Given the description of an element on the screen output the (x, y) to click on. 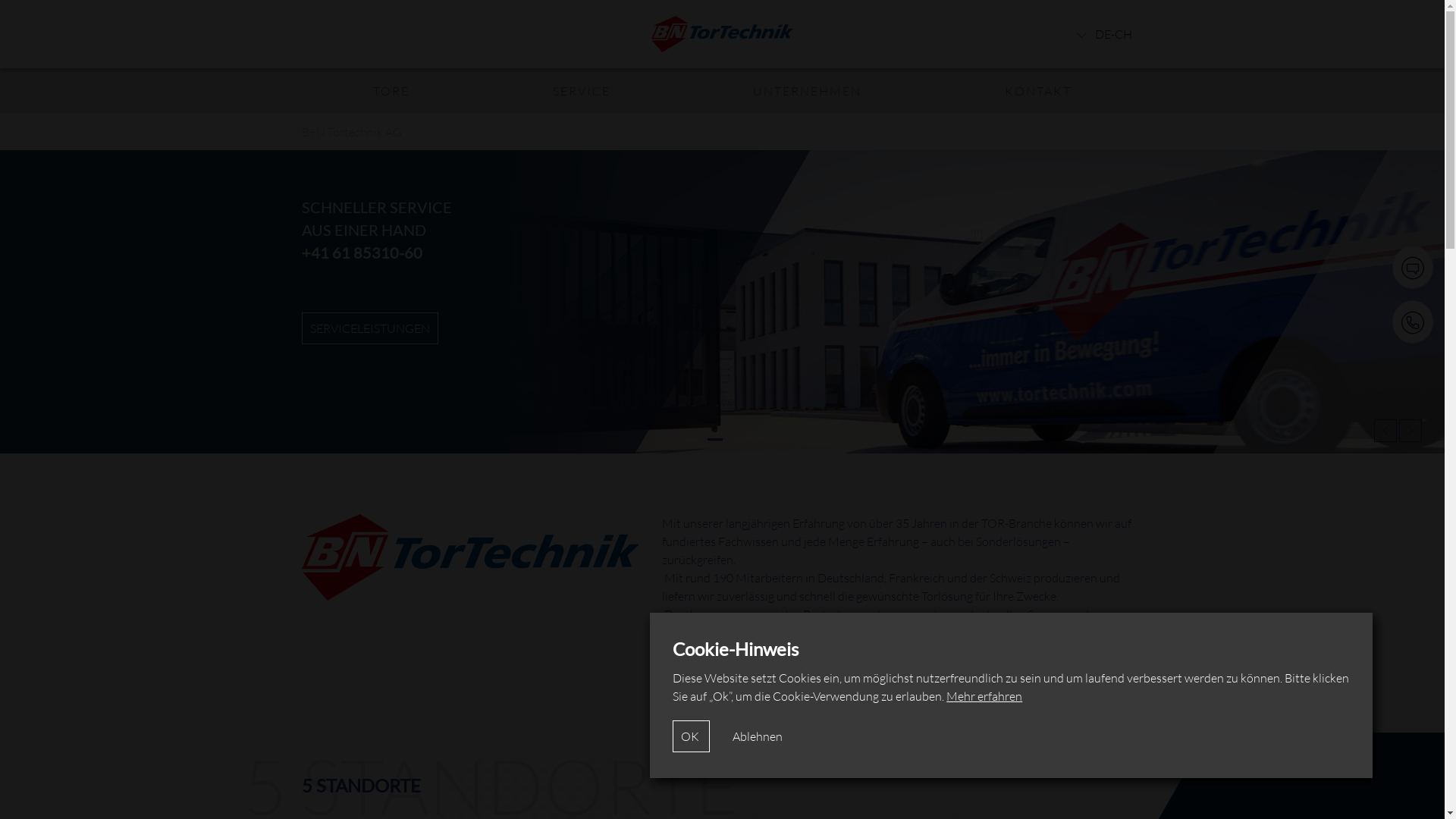
OK Element type: text (690, 736)
UNTERNEHMEN Element type: text (807, 90)
B+N TORTECHNIK AG Element type: text (370, 328)
KONTAKT Element type: text (1038, 90)
SERVICE Element type: text (581, 90)
Mehr erfahren Element type: text (984, 695)
Ablehnen Element type: text (757, 735)
